Given the description of an element on the screen output the (x, y) to click on. 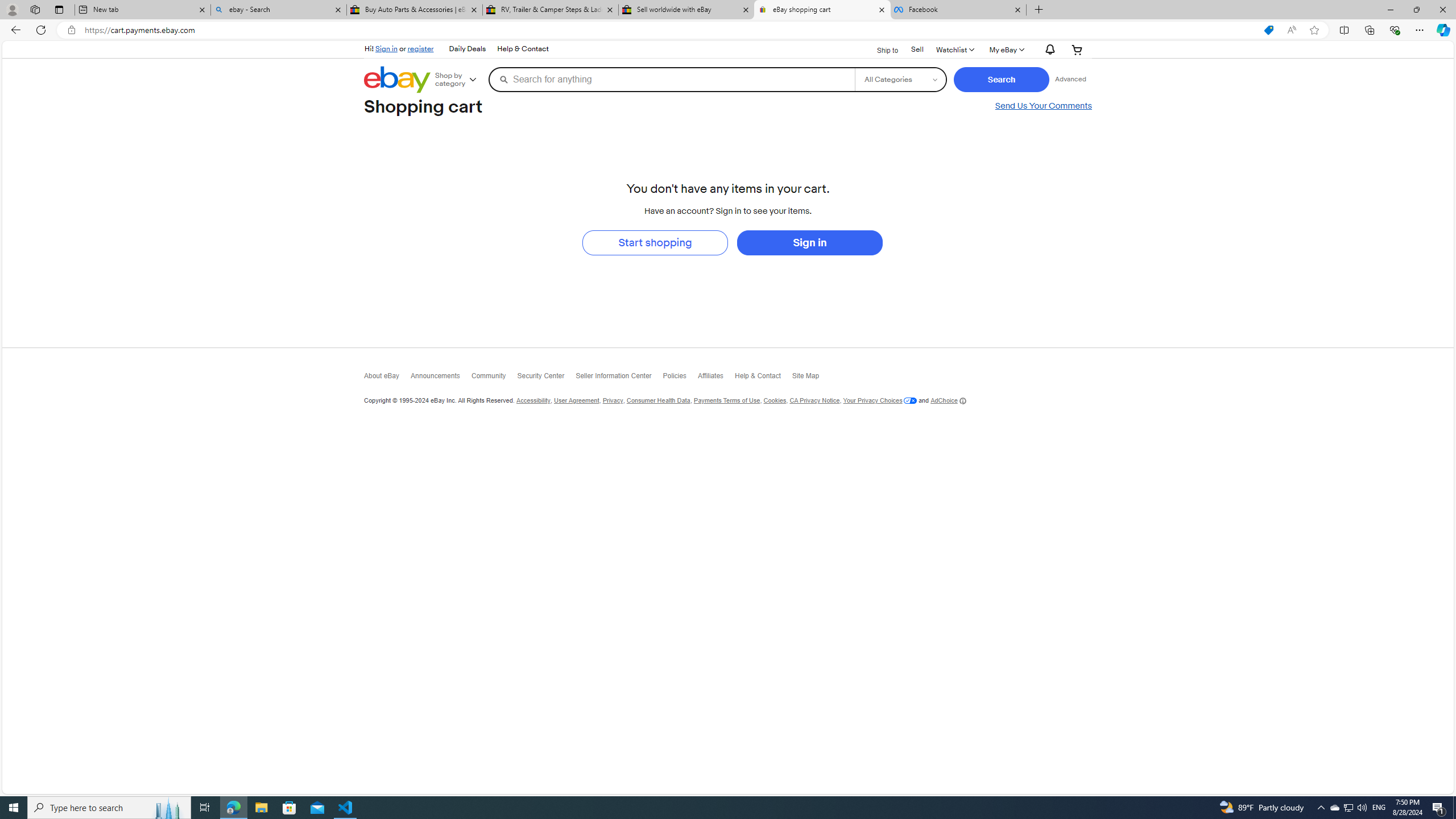
Security Center (546, 378)
Site Map (811, 378)
About eBay (387, 378)
Accessibility (532, 400)
Announcements (440, 377)
Daily Deals (467, 49)
Sign in (809, 242)
Help & Contact (763, 377)
Sell (916, 49)
Notifications (1047, 49)
Seller Information Center (618, 377)
